Given the description of an element on the screen output the (x, y) to click on. 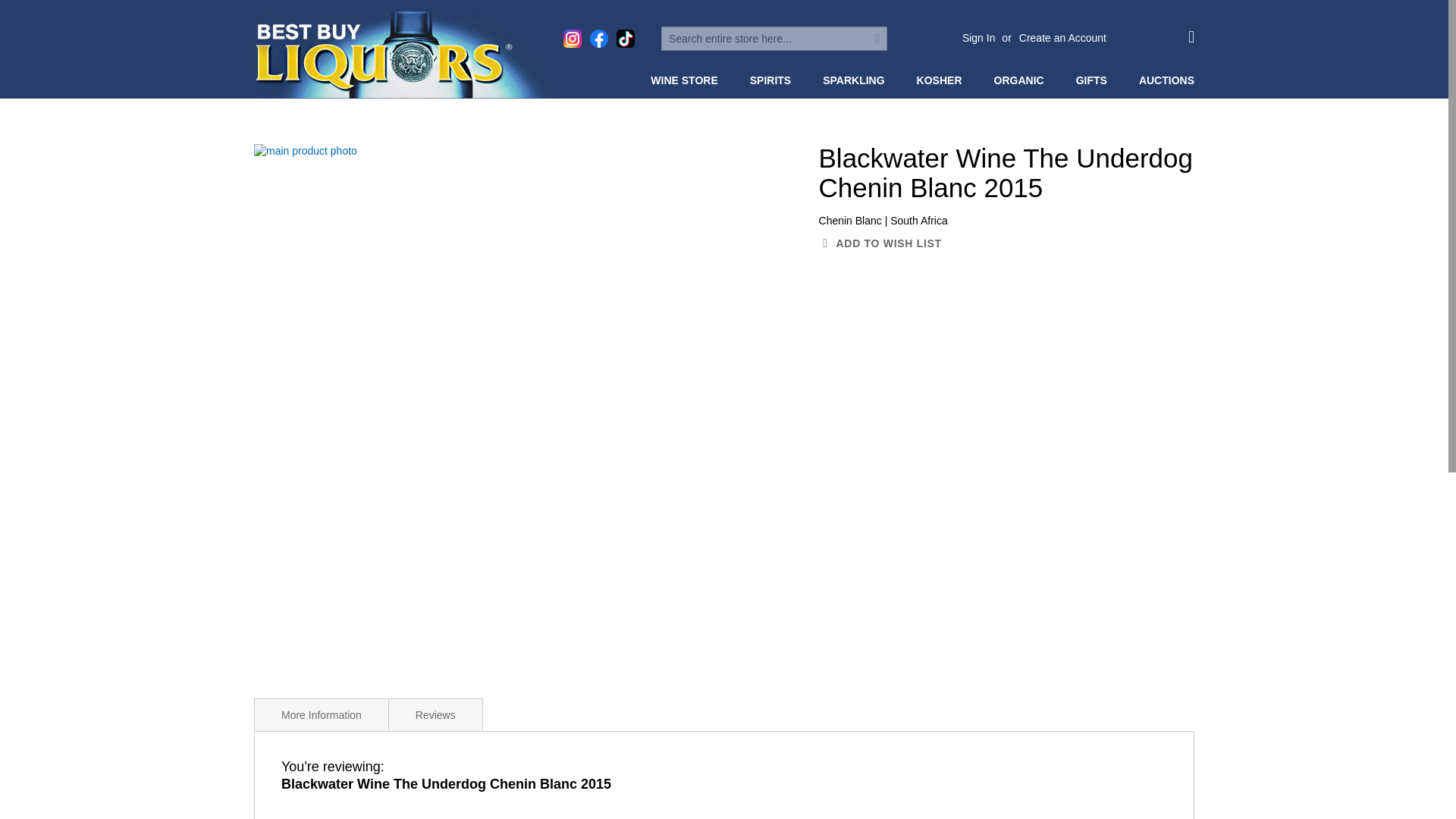
Best Buy Liquors on TikTok (624, 38)
Best Buy Liquors (406, 54)
Sign In (978, 38)
SPIRITS (773, 80)
WINE STORE (687, 80)
Best Buy Liquors on Instagram (571, 38)
Best Buy Liquors on Facebook (598, 38)
Create an Account (1062, 38)
